Given the description of an element on the screen output the (x, y) to click on. 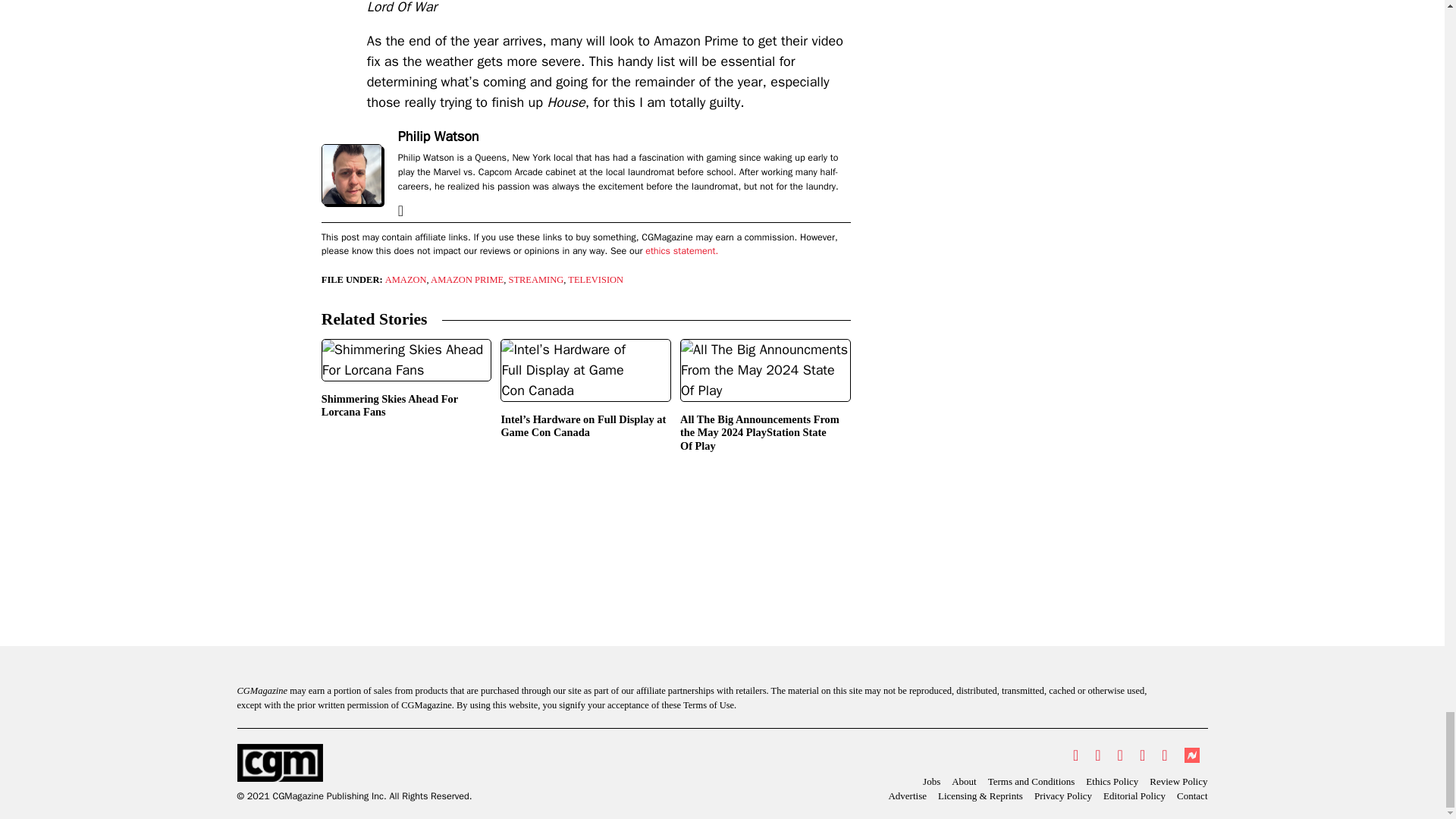
Instagram Profile (1120, 754)
Facebook Page (1097, 754)
Flipboard Page (1163, 754)
Philip Watson (438, 136)
CGMagazine (353, 762)
YouTube Page (1142, 754)
Twitter Profile (1075, 754)
